Given the description of an element on the screen output the (x, y) to click on. 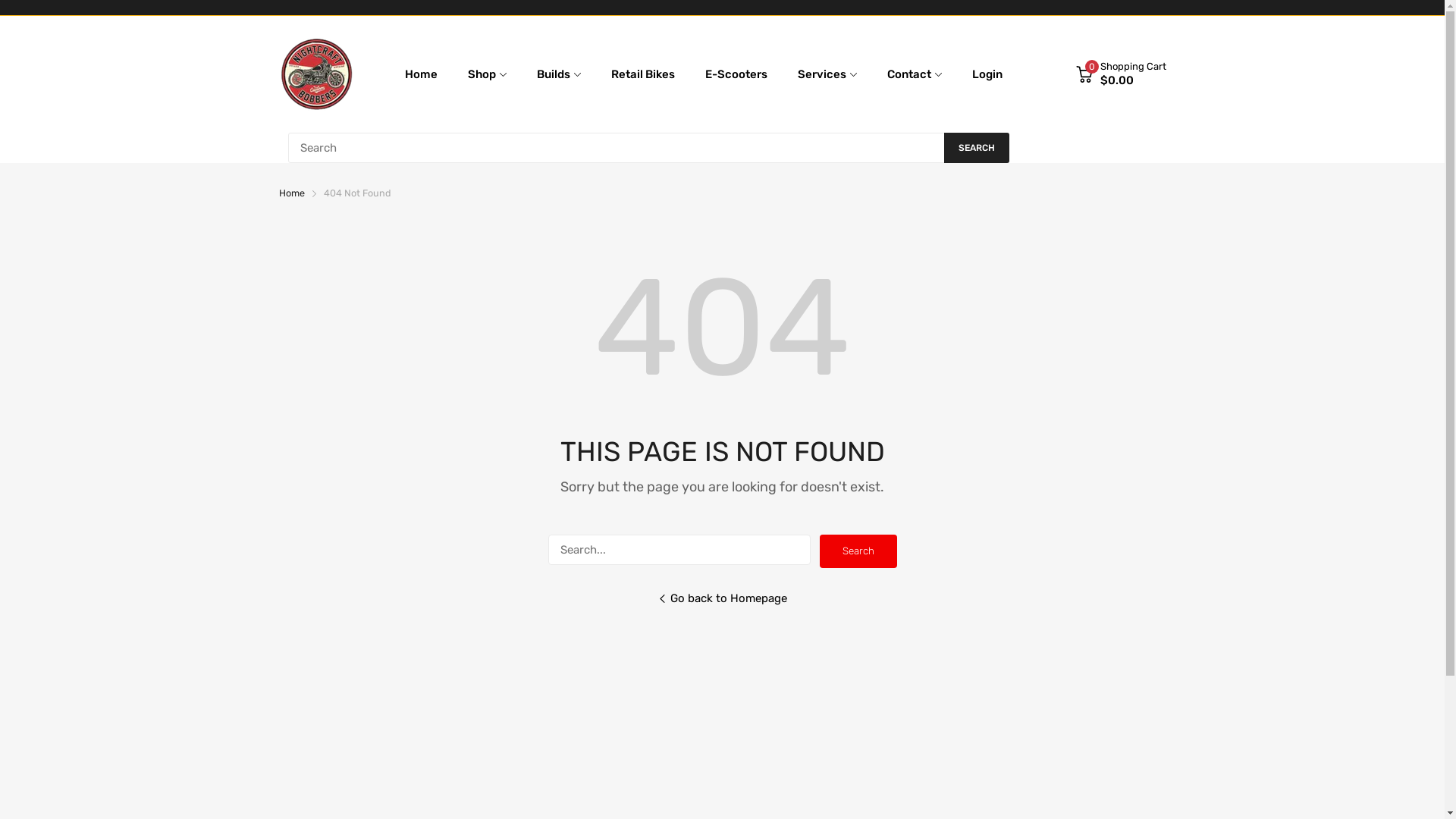
Go back to Homepage Element type: text (721, 609)
Shop Element type: text (481, 74)
Login Element type: text (987, 74)
1300 115 779 Element type: text (1132, 147)
404 Not Found Element type: text (356, 192)
Home Element type: text (291, 192)
Search Element type: text (857, 550)
E-Scooters Element type: text (736, 74)
SEARCH Element type: text (975, 147)
Services Element type: text (821, 74)
Home Element type: text (420, 74)
Contact Element type: text (909, 74)
Retail Bikes Element type: text (642, 74)
0 Element type: text (1083, 73)
Builds Element type: text (553, 74)
